Given the description of an element on the screen output the (x, y) to click on. 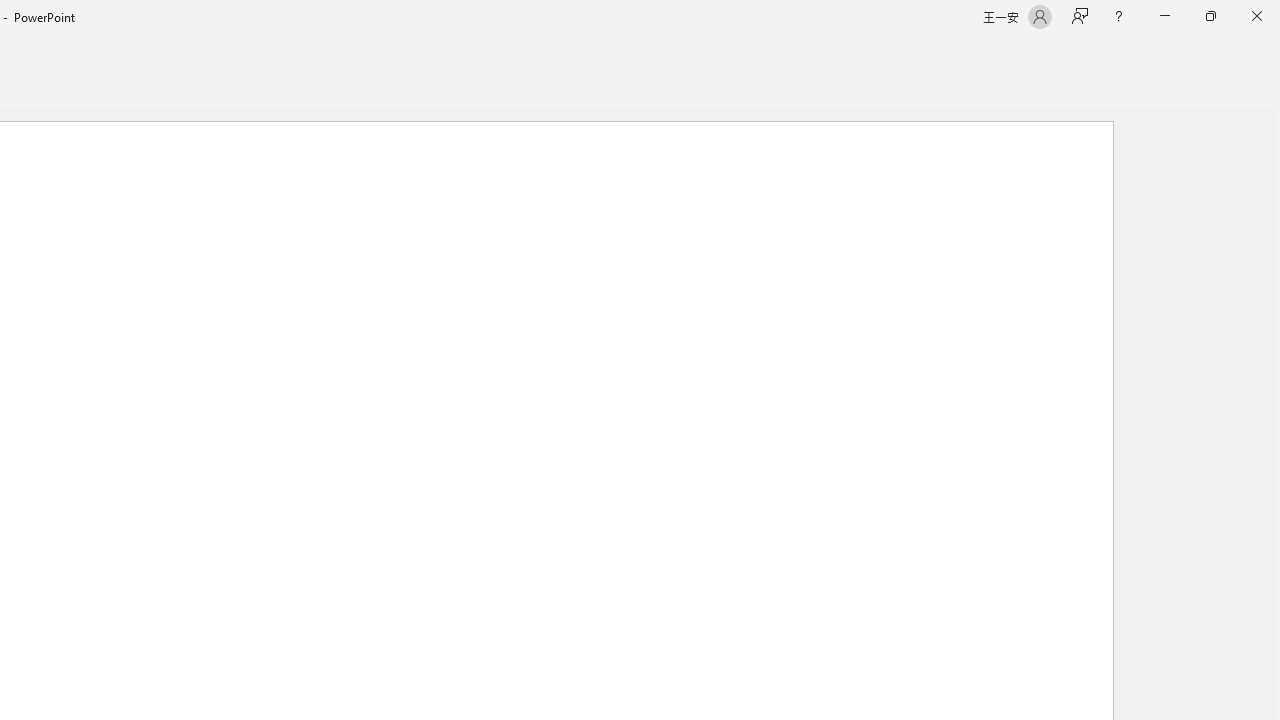
Restore Down (1210, 16)
